Given the description of an element on the screen output the (x, y) to click on. 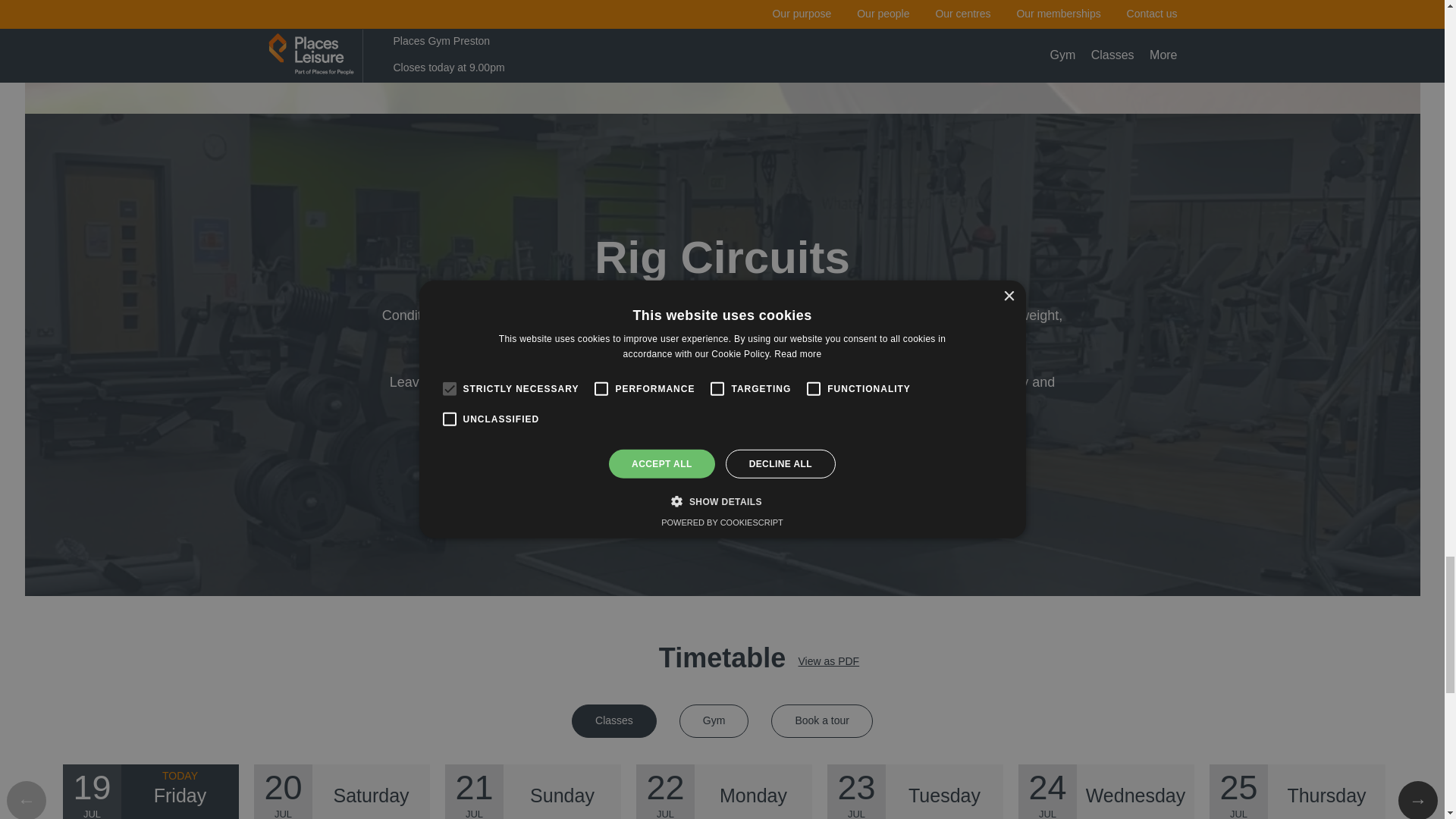
Book a tour (821, 720)
Gym (714, 720)
Classes (614, 720)
Book now (722, 456)
View as PDF (828, 661)
